Given the description of an element on the screen output the (x, y) to click on. 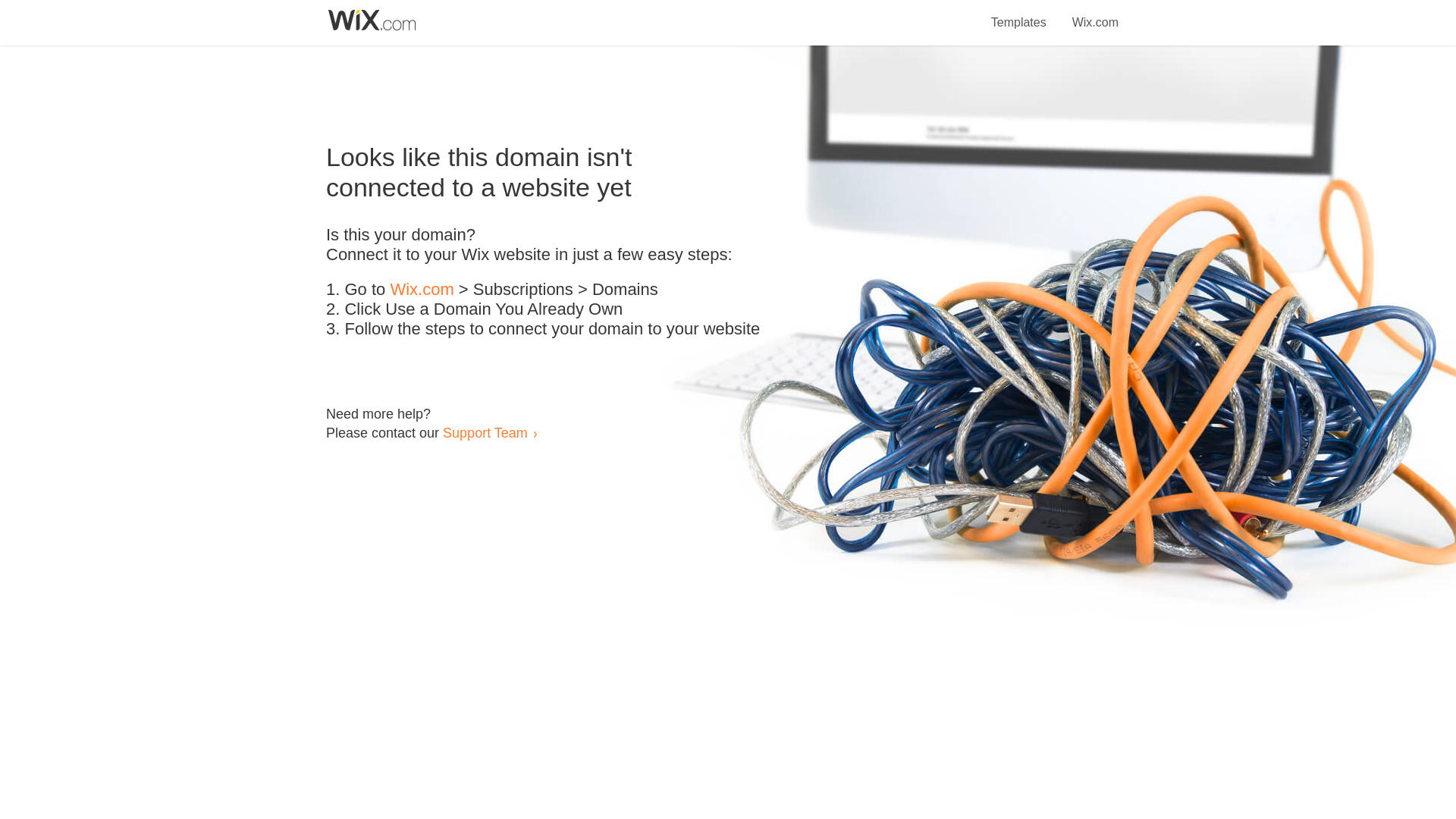
Wix.com (1095, 14)
Templates (1018, 14)
Wix.com (421, 289)
Support Team (484, 432)
